Given the description of an element on the screen output the (x, y) to click on. 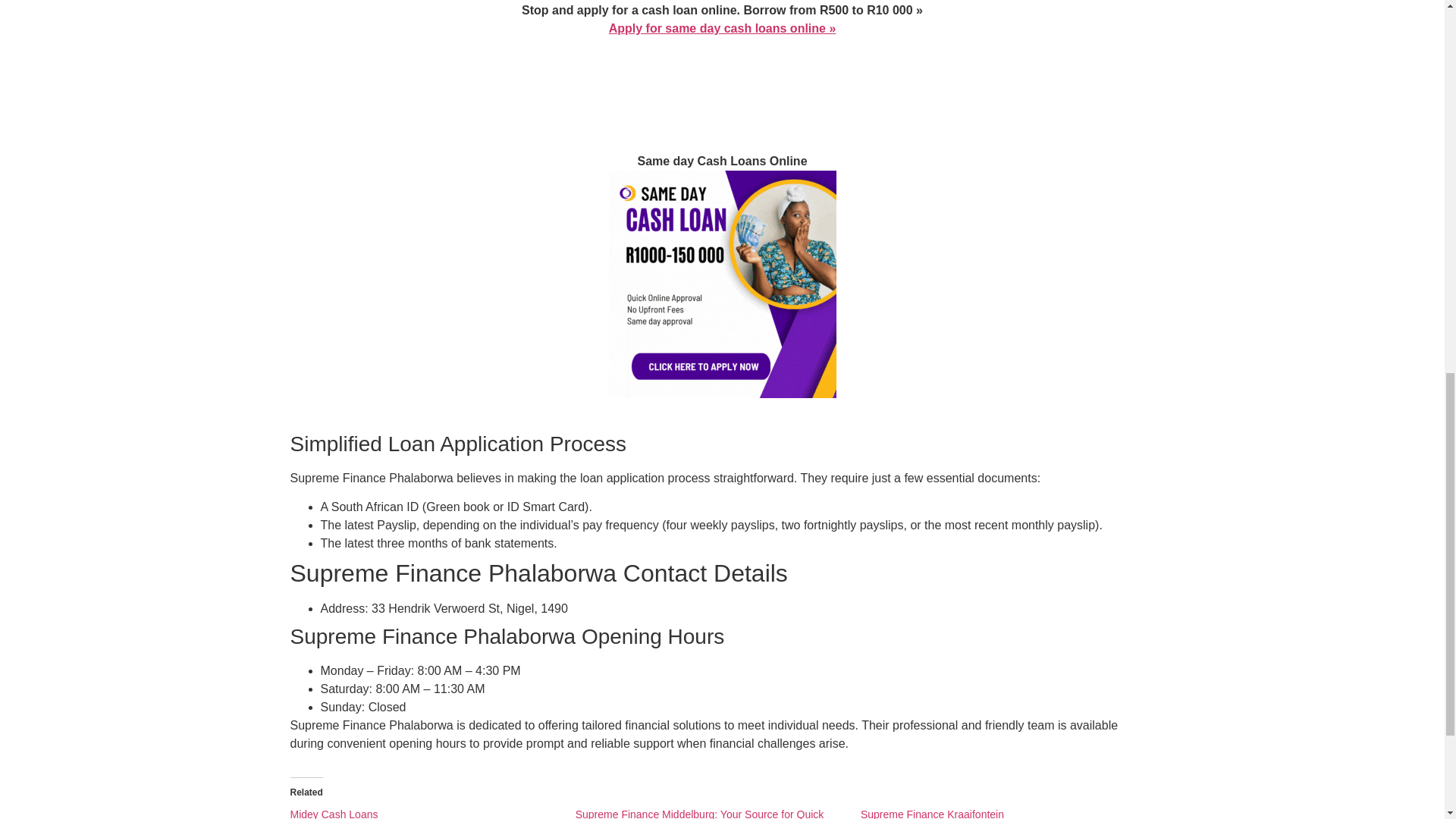
Supreme Finance Kraaifontein (932, 813)
Midey Cash Loans (333, 813)
Advertisement (721, 75)
Midey Cash Loans (333, 813)
Supreme Finance Kraaifontein (932, 813)
